Given the description of an element on the screen output the (x, y) to click on. 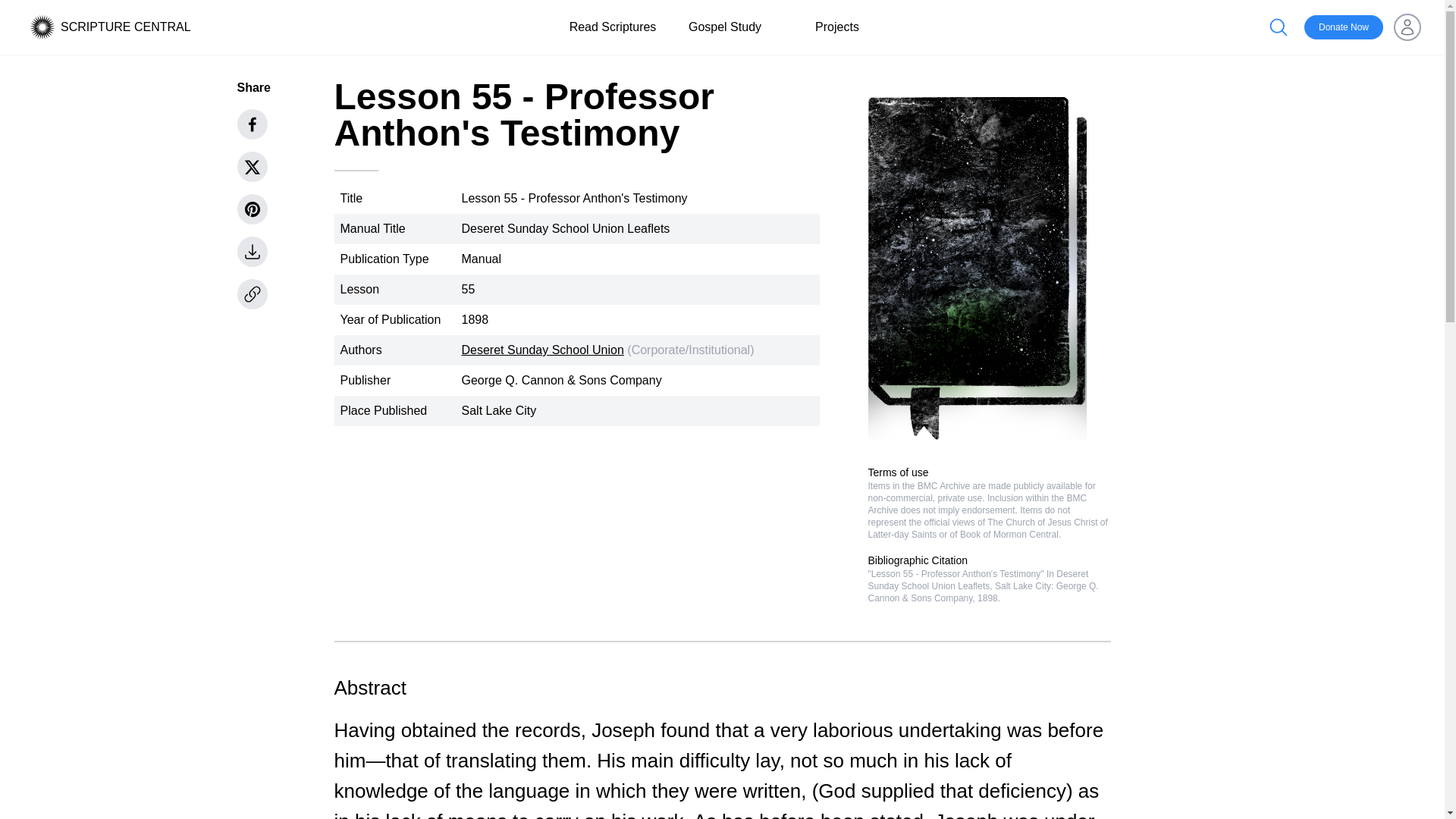
Projects (837, 26)
Open user menu (1406, 27)
Gospel Study (724, 26)
Read Scriptures (612, 27)
Gospel Study (724, 27)
SCRIPTURE CENTRAL (125, 27)
Deseret Sunday School Union (542, 349)
Donate Now (1343, 27)
Read Scriptures (612, 26)
